Given the description of an element on the screen output the (x, y) to click on. 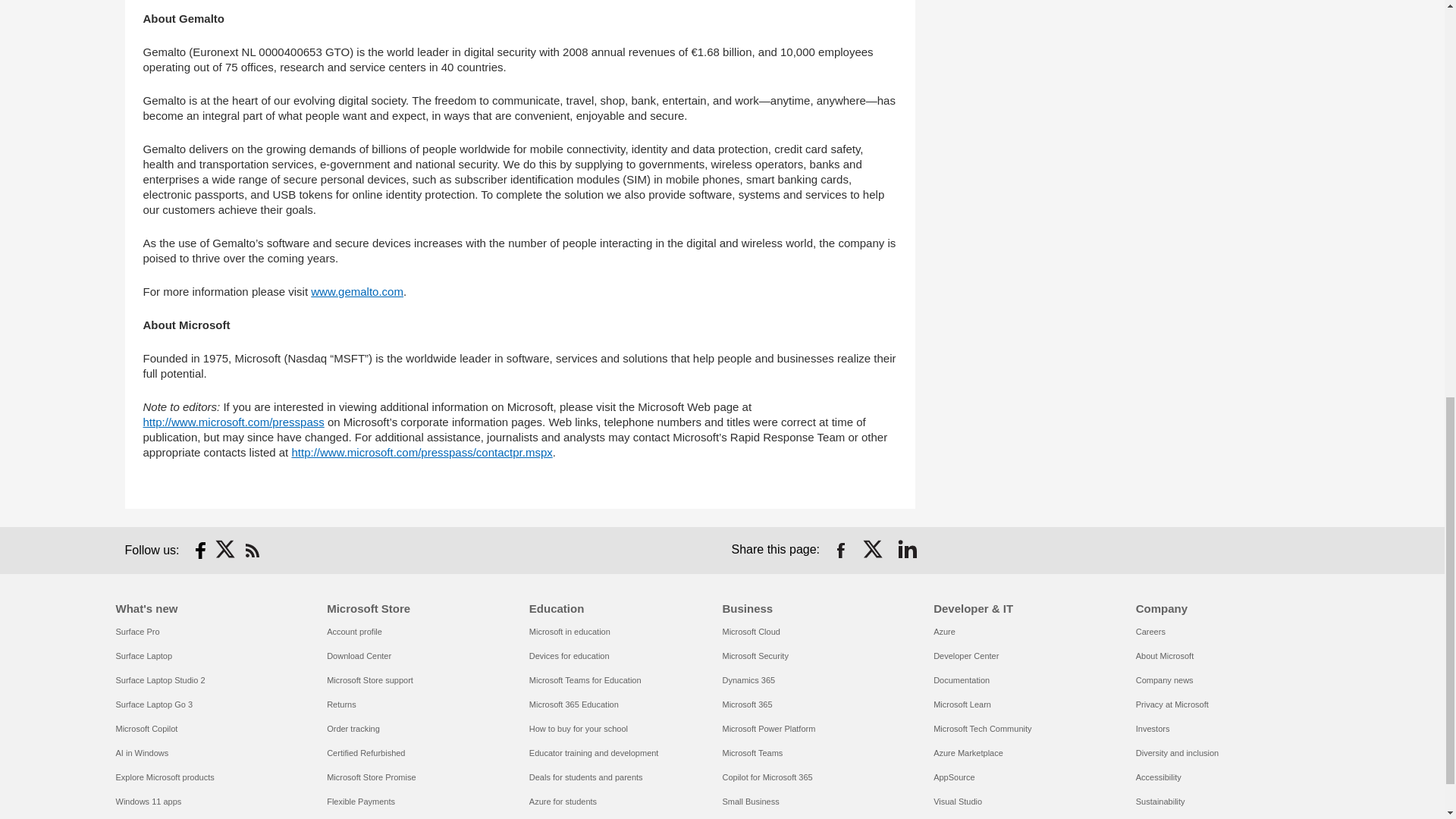
Follow on Facebook (200, 550)
Share on Facebook (840, 550)
Share on LinkedIn (907, 550)
RSS Subscription (252, 550)
Share on Twitter (873, 550)
Follow on Twitter (226, 550)
